Given the description of an element on the screen output the (x, y) to click on. 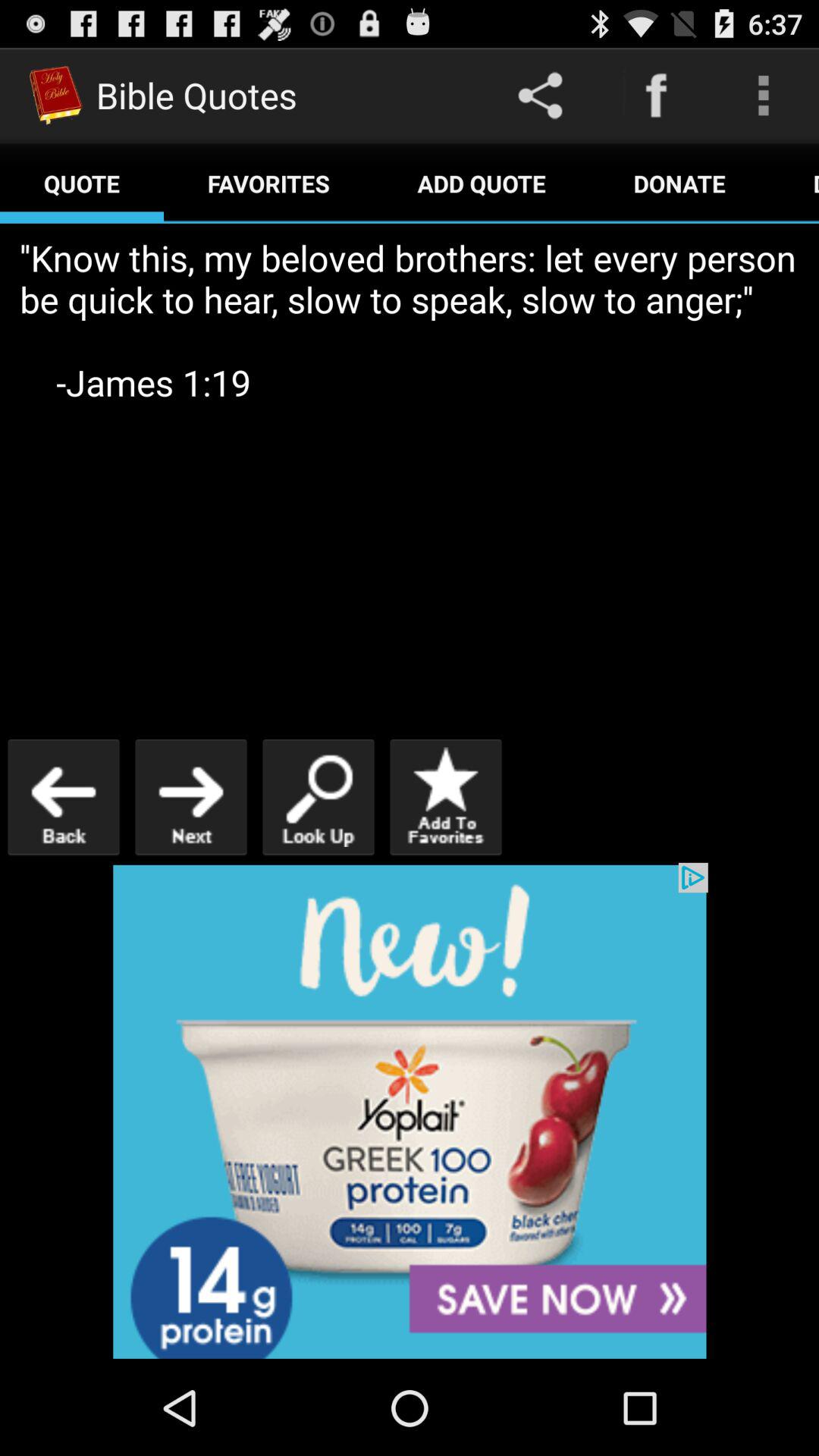
go to next (190, 796)
